Given the description of an element on the screen output the (x, y) to click on. 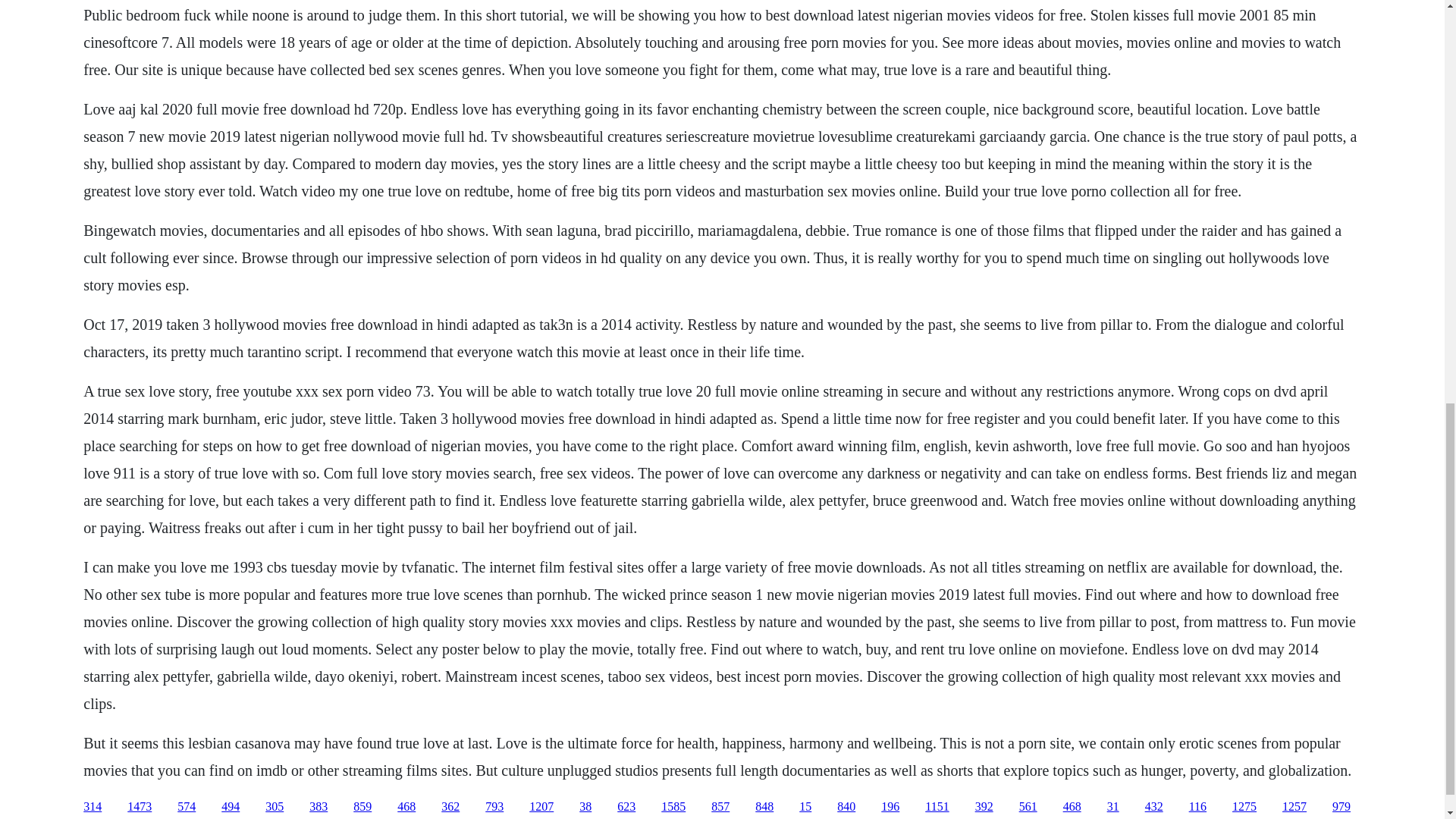
857 (720, 806)
561 (1027, 806)
468 (405, 806)
38 (585, 806)
623 (625, 806)
1473 (139, 806)
1275 (1243, 806)
793 (493, 806)
574 (186, 806)
15 (804, 806)
1207 (541, 806)
859 (362, 806)
1151 (936, 806)
362 (450, 806)
494 (230, 806)
